Given the description of an element on the screen output the (x, y) to click on. 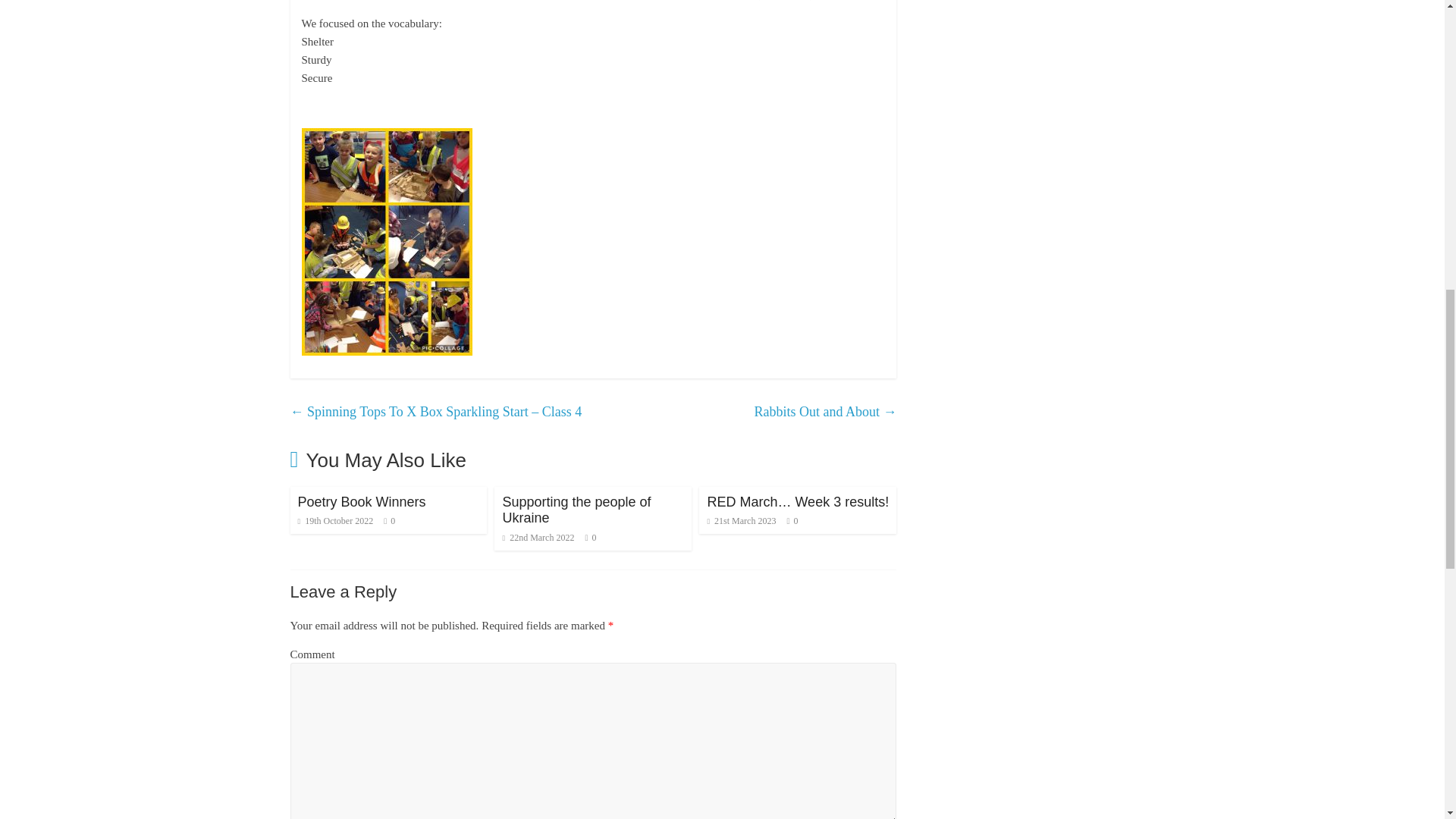
Supporting the people of Ukraine (576, 510)
Poetry Book Winners (361, 501)
12:44 pm (537, 537)
12:19 pm (334, 520)
Supporting the people of Ukraine (576, 510)
19th October 2022 (334, 520)
22nd March 2022 (537, 537)
5:51 pm (741, 520)
Poetry Book Winners (361, 501)
21st March 2023 (741, 520)
